Given the description of an element on the screen output the (x, y) to click on. 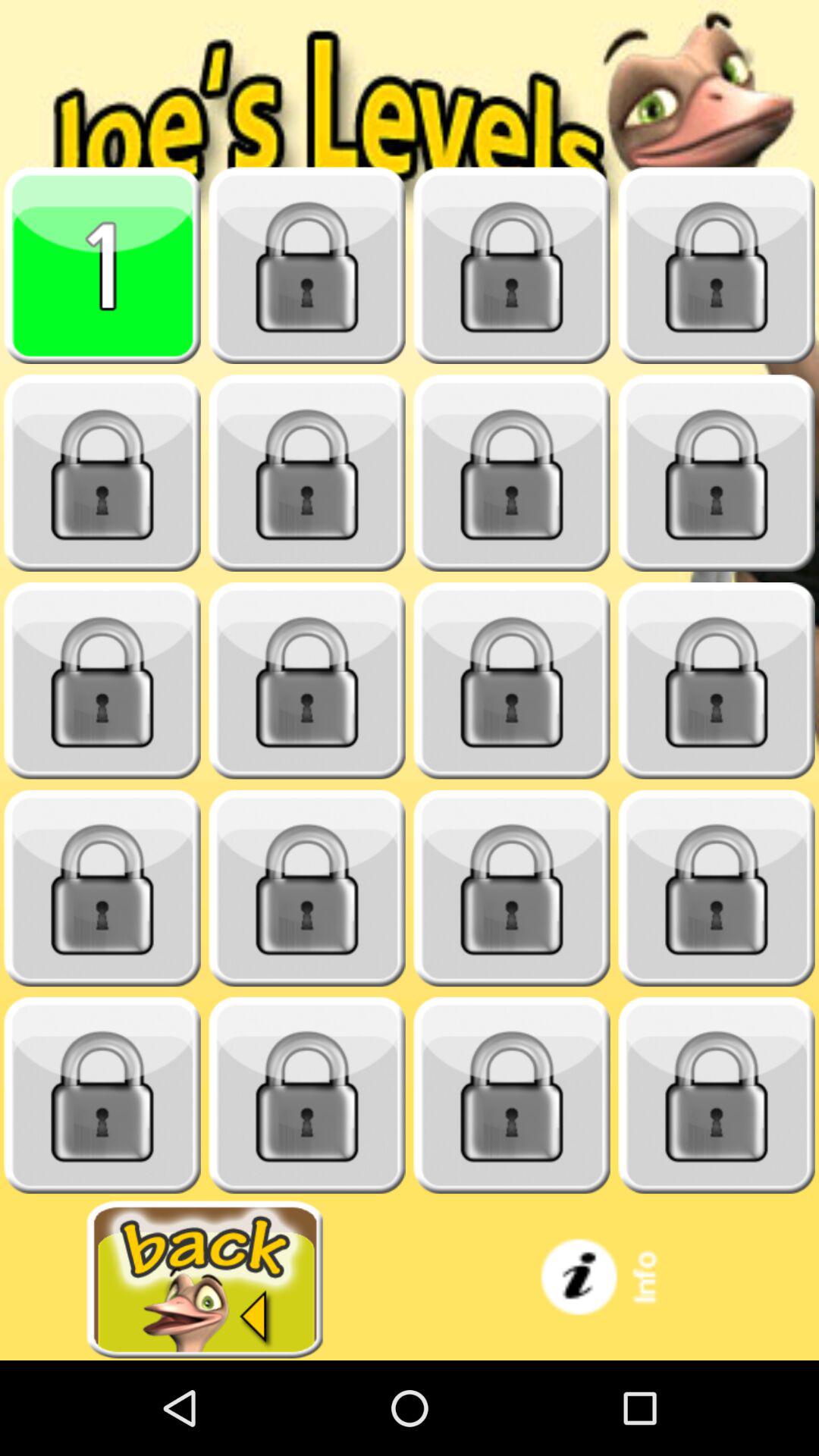
select lock (511, 265)
